Given the description of an element on the screen output the (x, y) to click on. 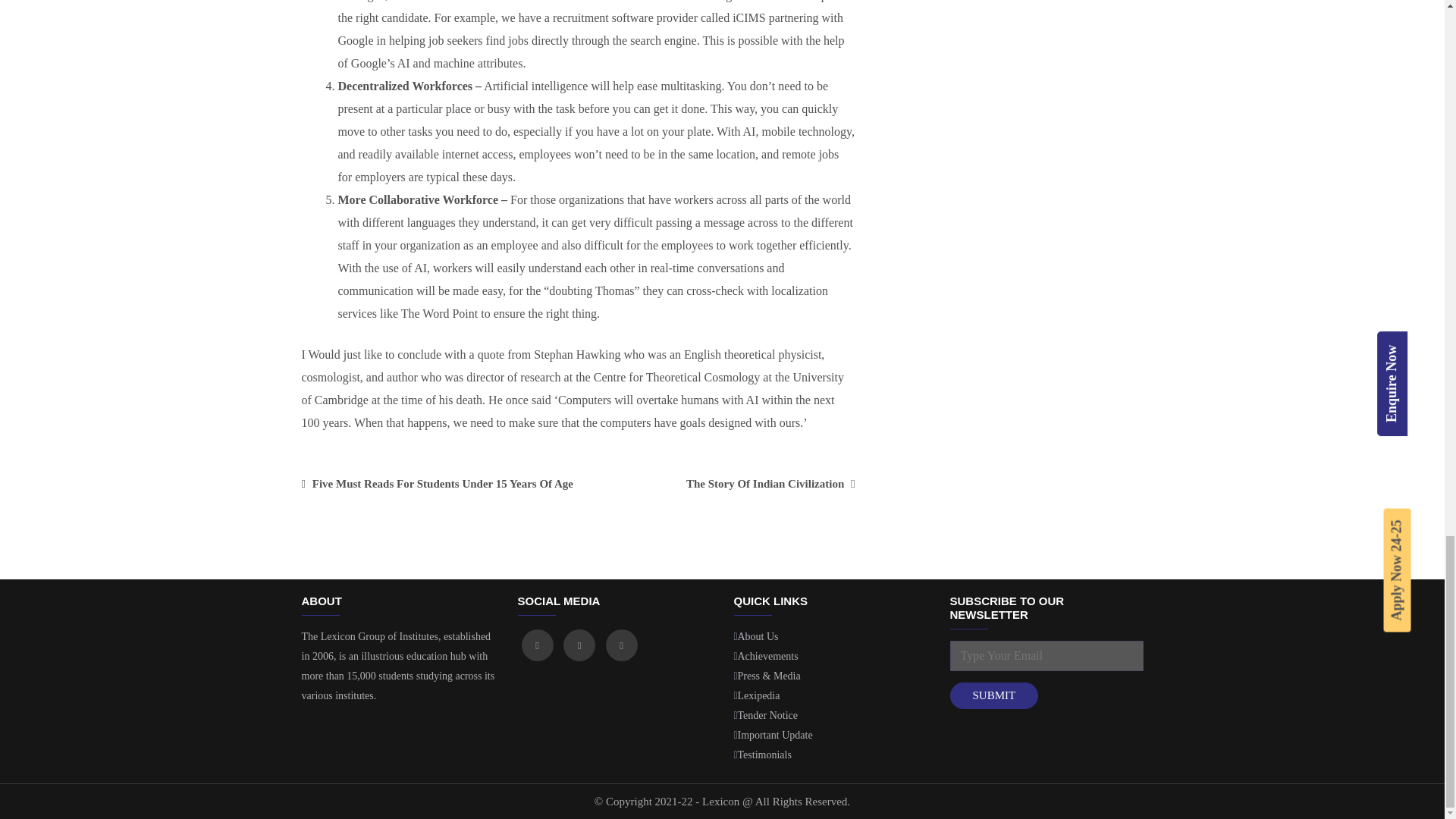
The Story Of Indian Civilization (770, 482)
Submit (993, 695)
Five Must Reads For Students Under 15 Years Of Age (437, 482)
